Given the description of an element on the screen output the (x, y) to click on. 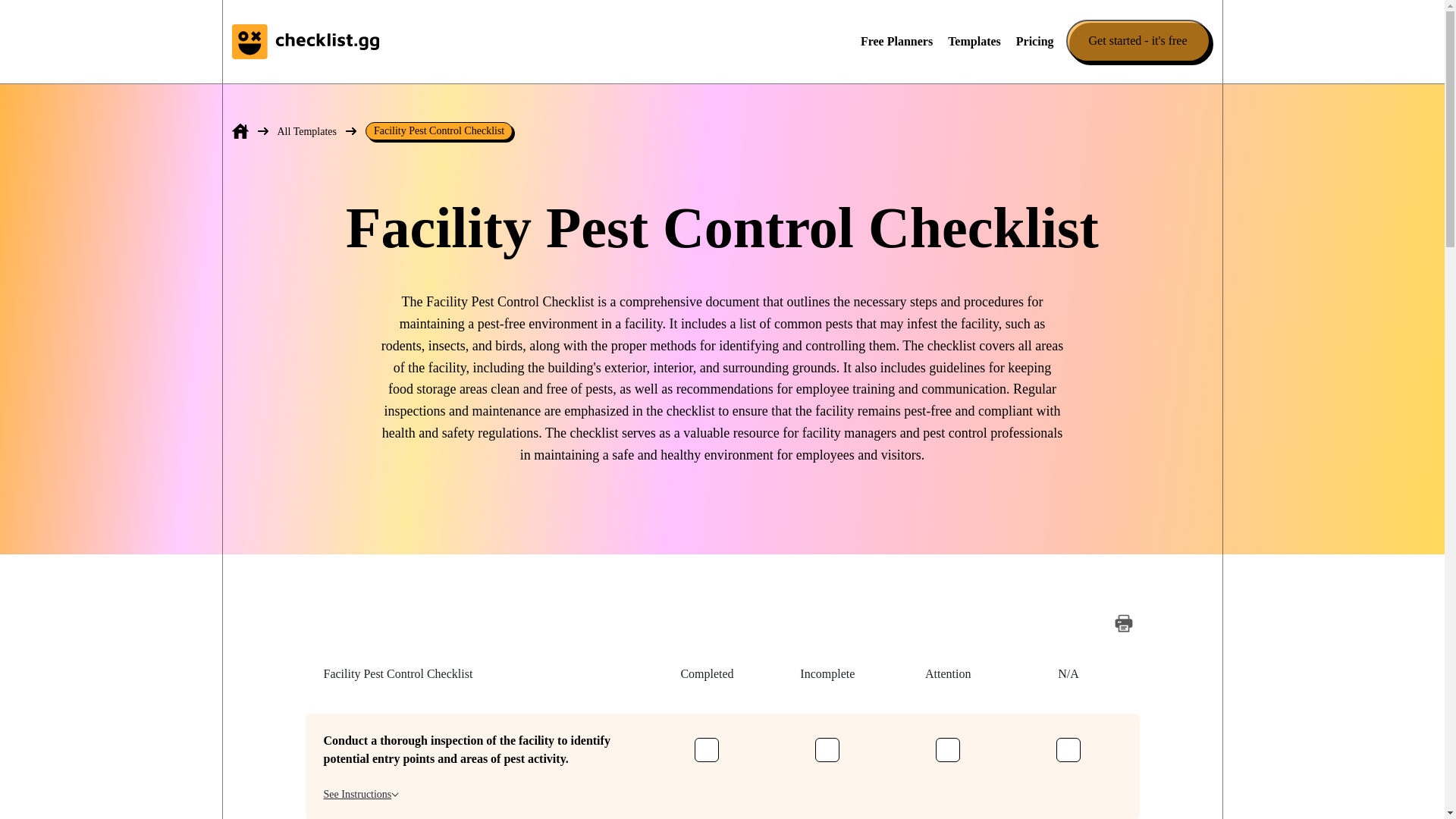
Get started - it's free (1140, 41)
Pricing (1035, 41)
See Instructions (360, 794)
Free Planners (896, 41)
Facility Pest Control Checklist (438, 131)
Templates (974, 41)
Get started - it's free (1137, 40)
All Templates (307, 130)
